Given the description of an element on the screen output the (x, y) to click on. 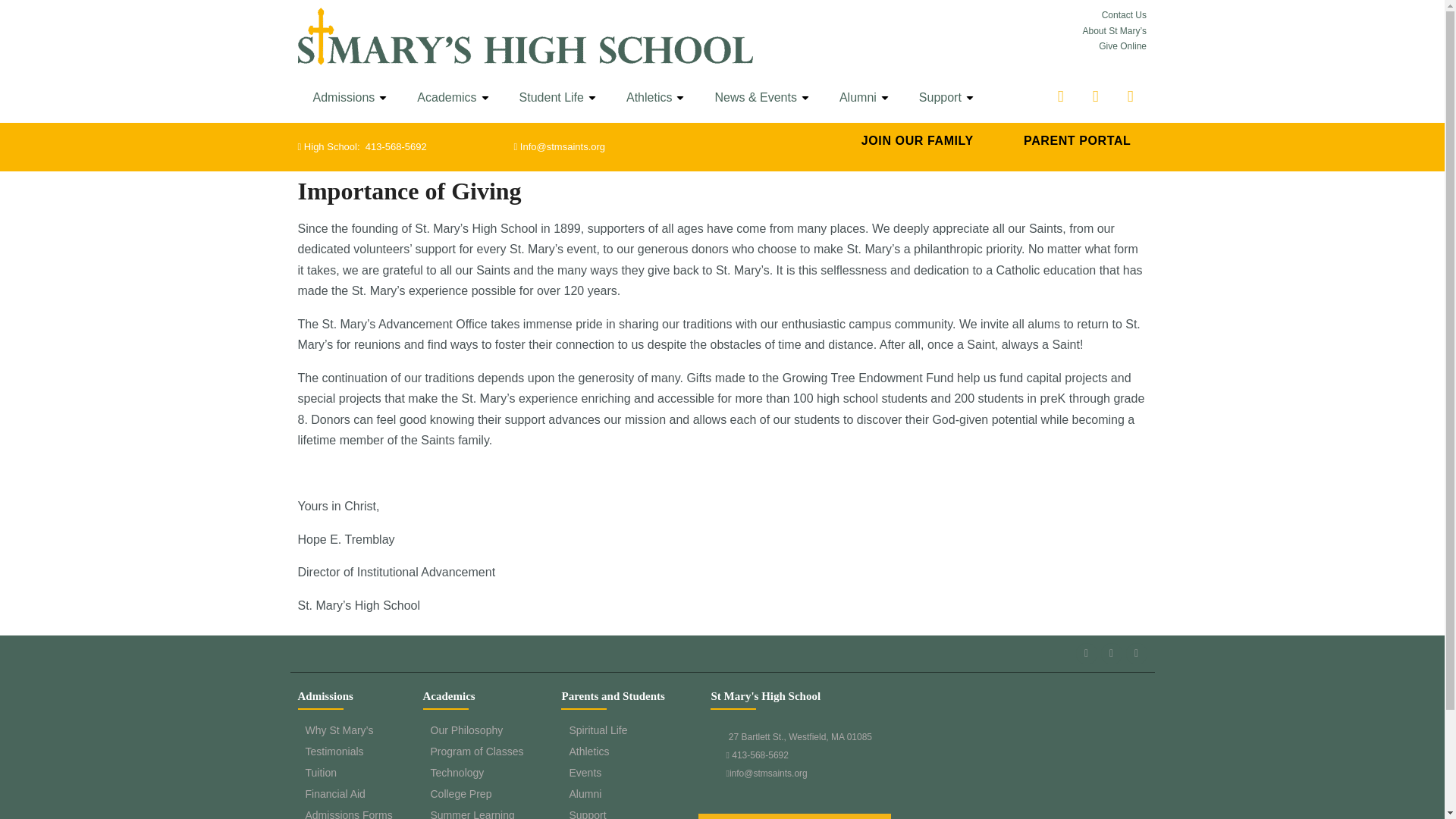
Student Life (557, 97)
Admissions (349, 97)
Contact Us (1124, 14)
27 Bartlett Street, Westfield MA 01085 (1028, 775)
Give Online (1123, 45)
Academics (452, 97)
